Given the description of an element on the screen output the (x, y) to click on. 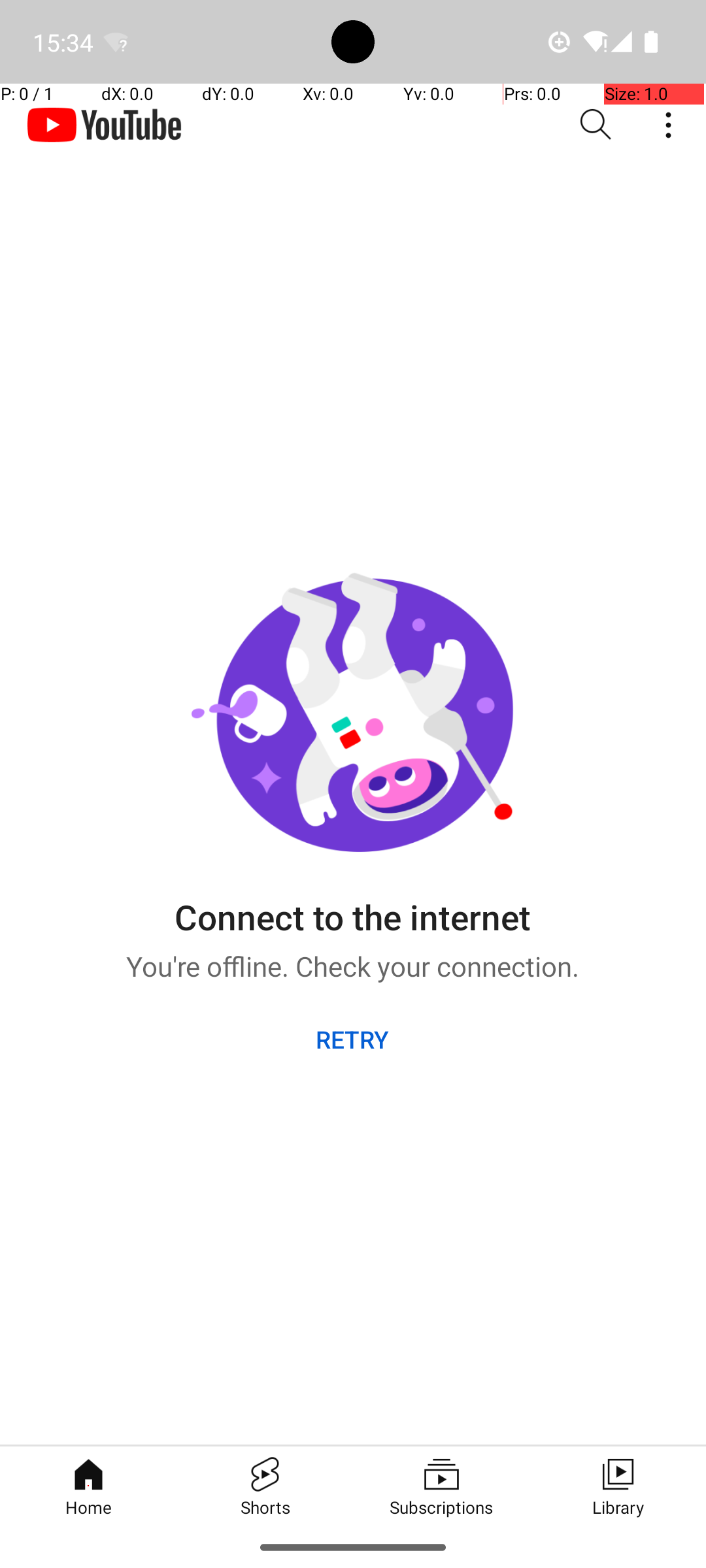
Connect to the internet Element type: android.widget.TextView (351, 906)
You're offline. Check your connection. Element type: android.widget.TextView (352, 962)
RETRY Element type: android.widget.TextView (352, 1039)
